Given the description of an element on the screen output the (x, y) to click on. 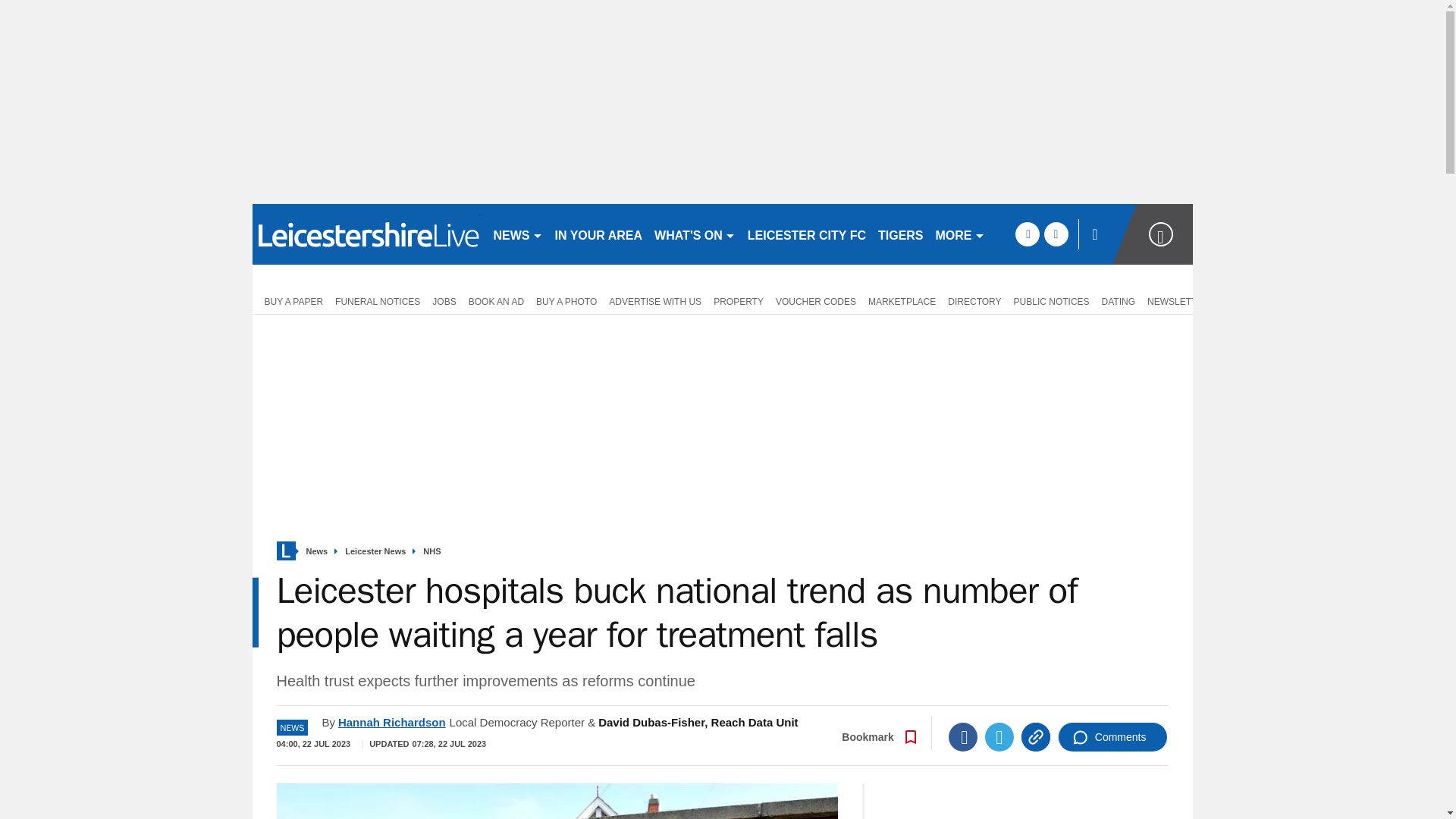
Comments (1112, 736)
leicestermercury (365, 233)
facebook (1026, 233)
Twitter (999, 736)
WHAT'S ON (694, 233)
twitter (1055, 233)
IN YOUR AREA (598, 233)
Facebook (962, 736)
MORE (960, 233)
LEICESTER CITY FC (806, 233)
